Given the description of an element on the screen output the (x, y) to click on. 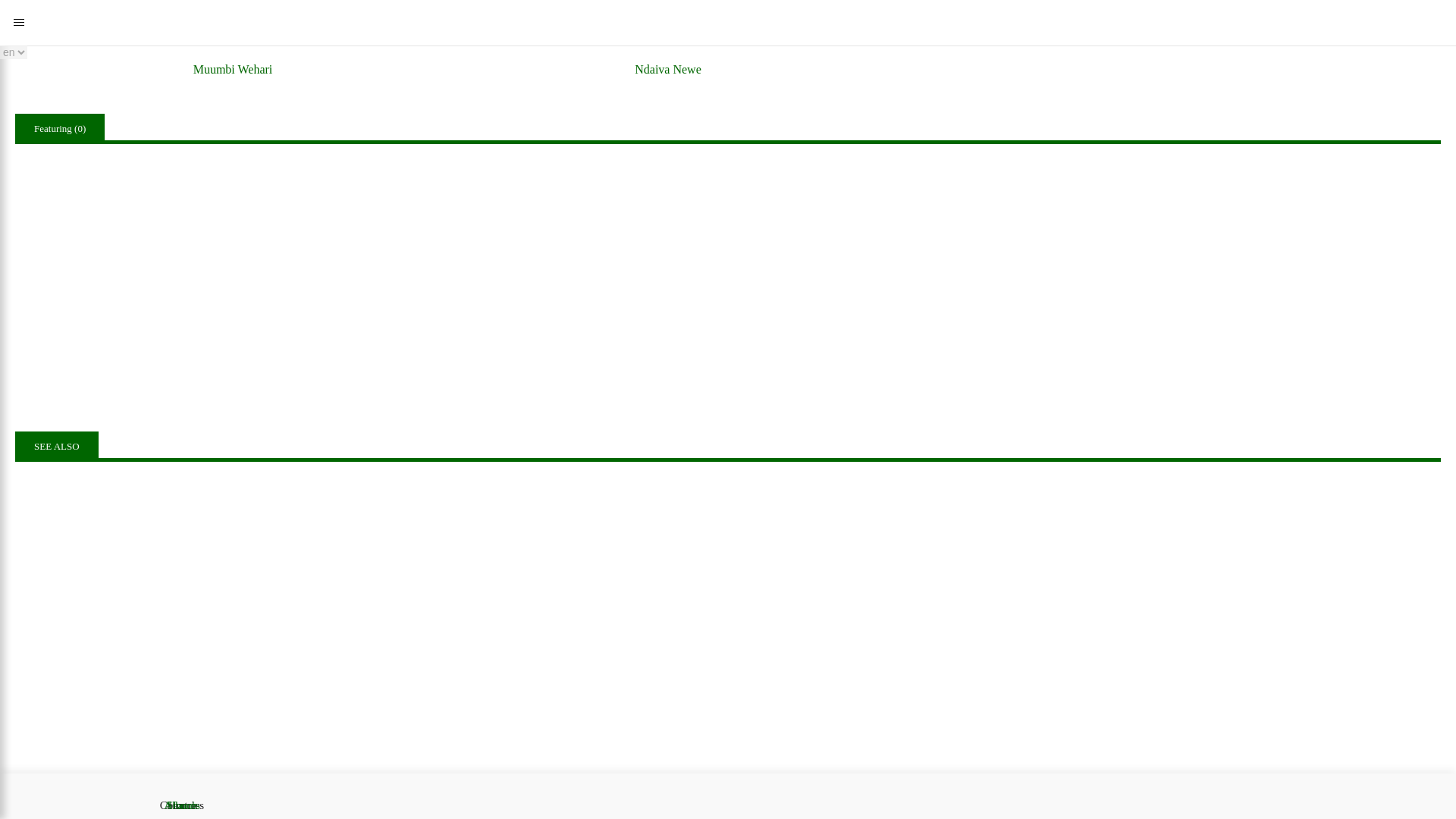
Muumbi Wehari (232, 40)
Ndaiva Newe (668, 40)
